Given the description of an element on the screen output the (x, y) to click on. 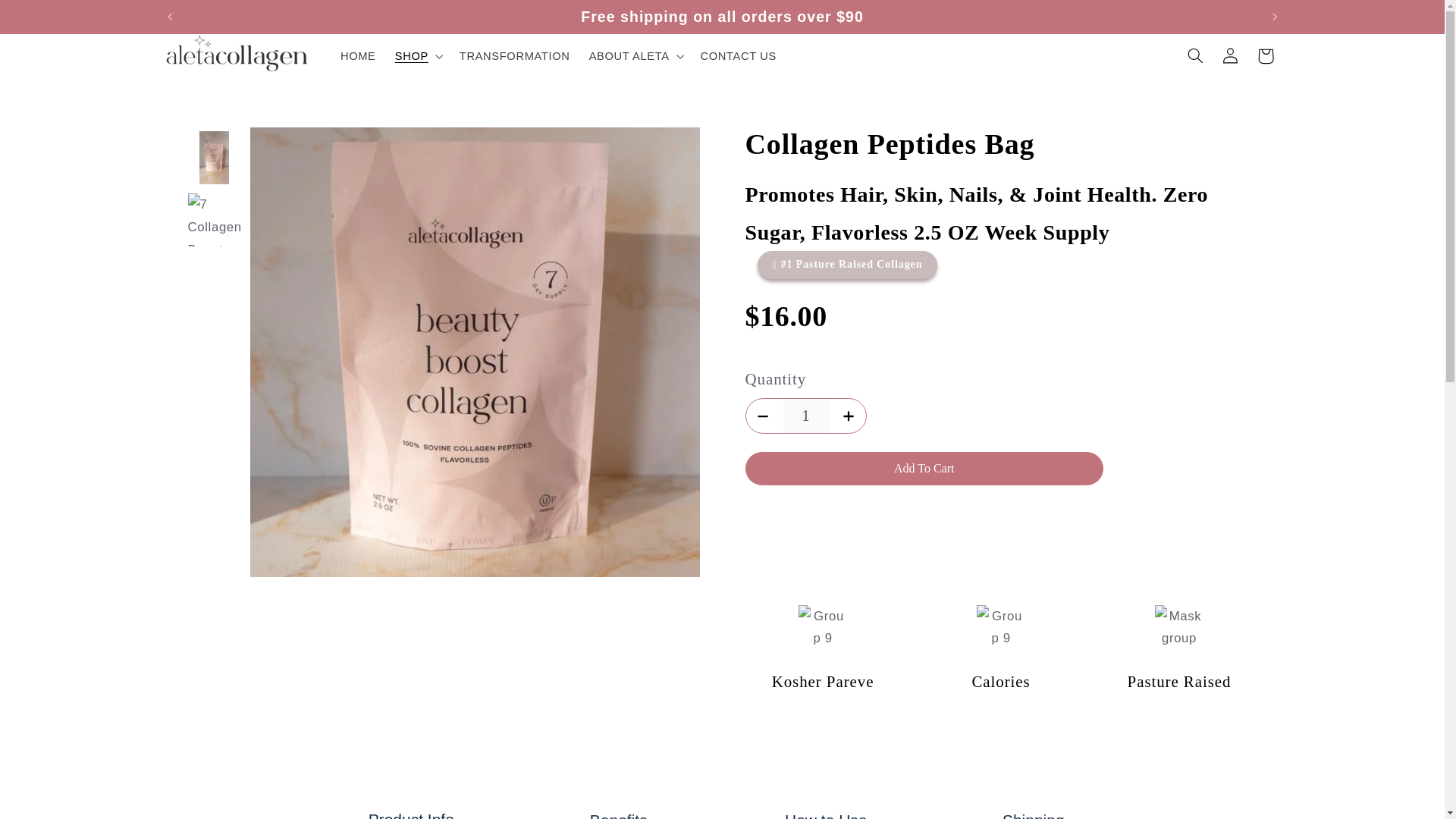
CONTACT US (738, 55)
1 (805, 415)
Skip to content (48, 18)
TRANSFORMATION (514, 55)
HOME (357, 55)
